Given the description of an element on the screen output the (x, y) to click on. 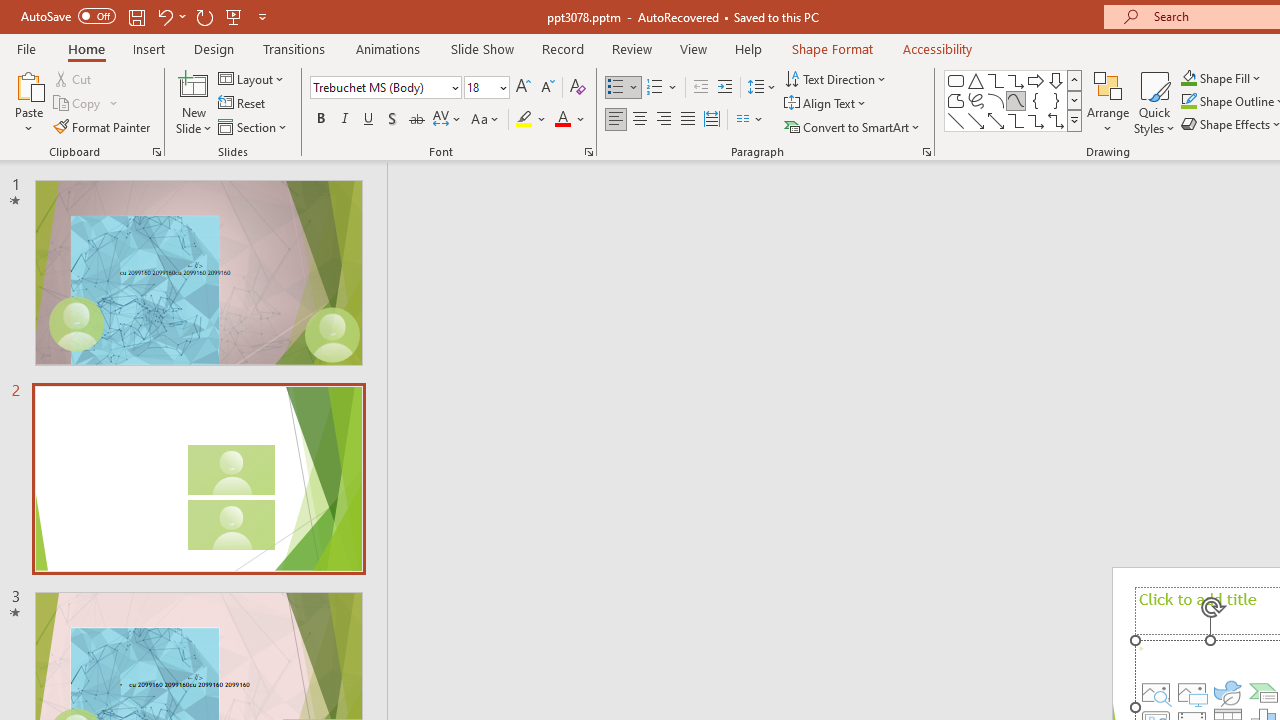
Connector: Elbow Double-Arrow (1055, 120)
